Given the description of an element on the screen output the (x, y) to click on. 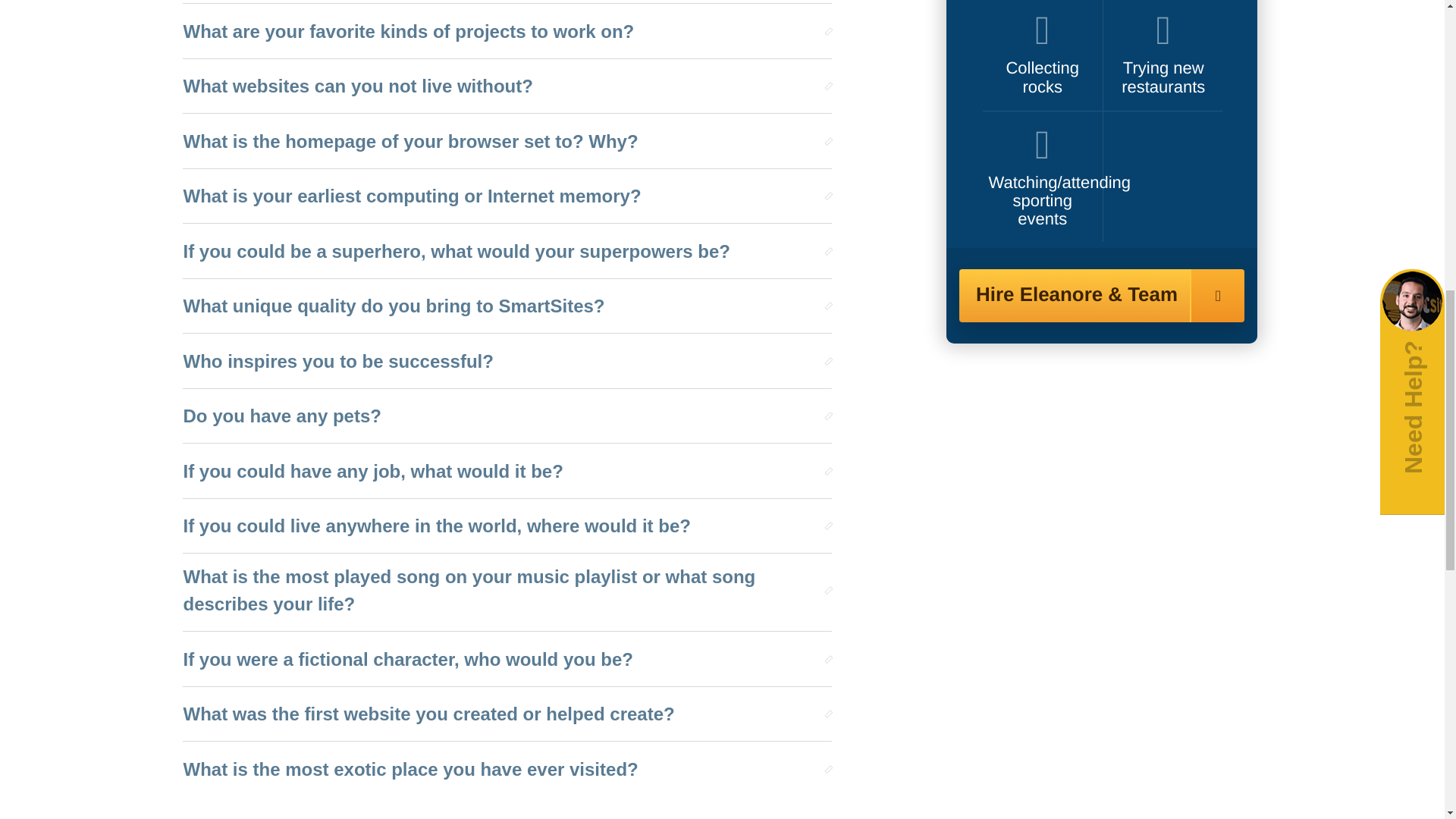
Do you have any pets? (500, 416)
What is your earliest computing or Internet memory? (500, 195)
What is the most exotic place you have ever visited? (500, 769)
If you could have any job, what would it be? (500, 471)
Who inspires you to be successful? (500, 361)
What unique quality do you bring to SmartSites? (500, 306)
What websites can you not live without? (500, 86)
What was the first website you created or helped create? (500, 714)
If you could be a superhero, what would your superpowers be? (500, 251)
What is the homepage of your browser set to? Why? (500, 141)
What are your favorite kinds of projects to work on? (500, 31)
If you could live anywhere in the world, where would it be? (500, 525)
If you were a fictional character, who would you be? (500, 659)
